Given the description of an element on the screen output the (x, y) to click on. 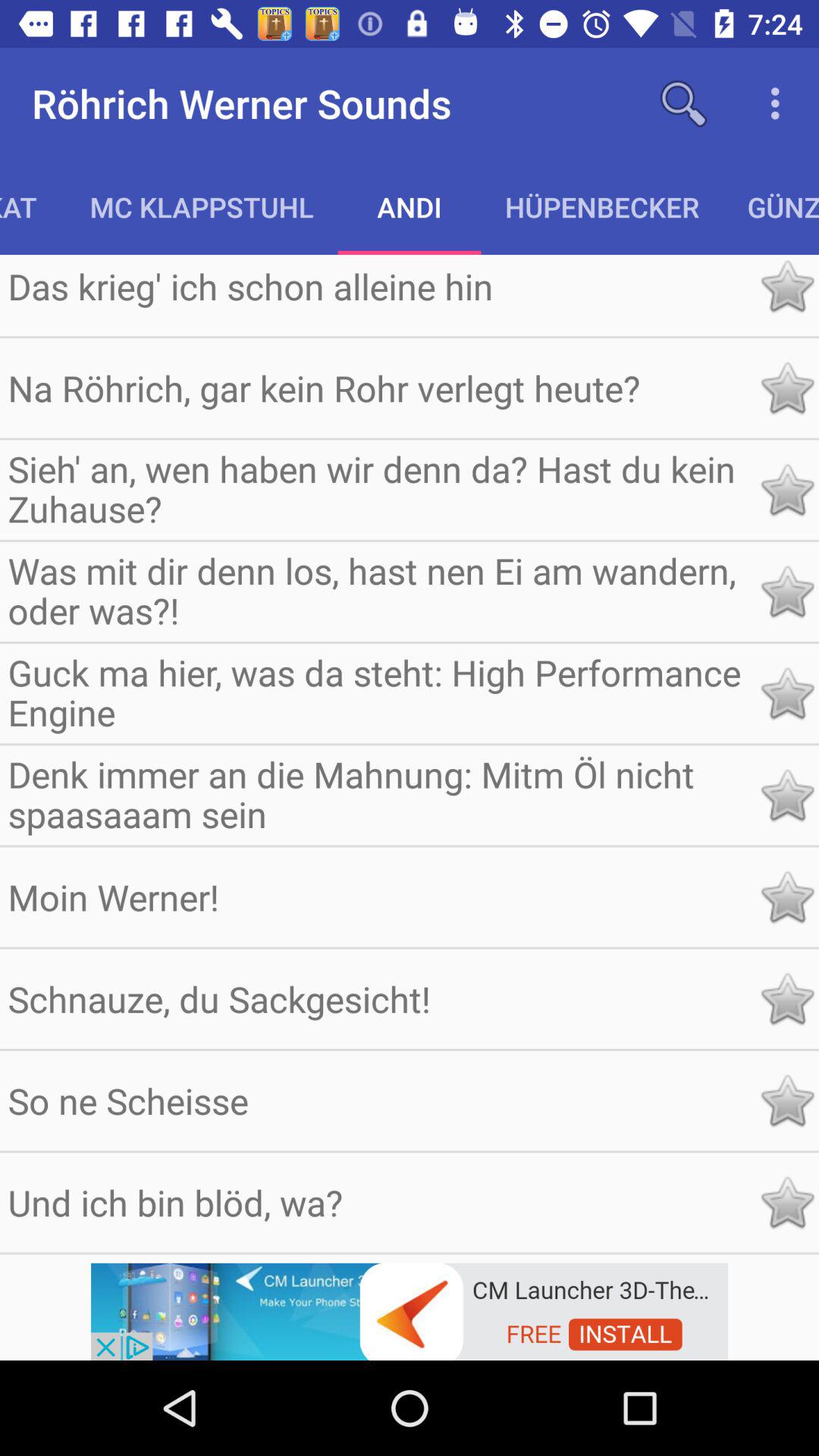
favorite the sound (787, 387)
